Given the description of an element on the screen output the (x, y) to click on. 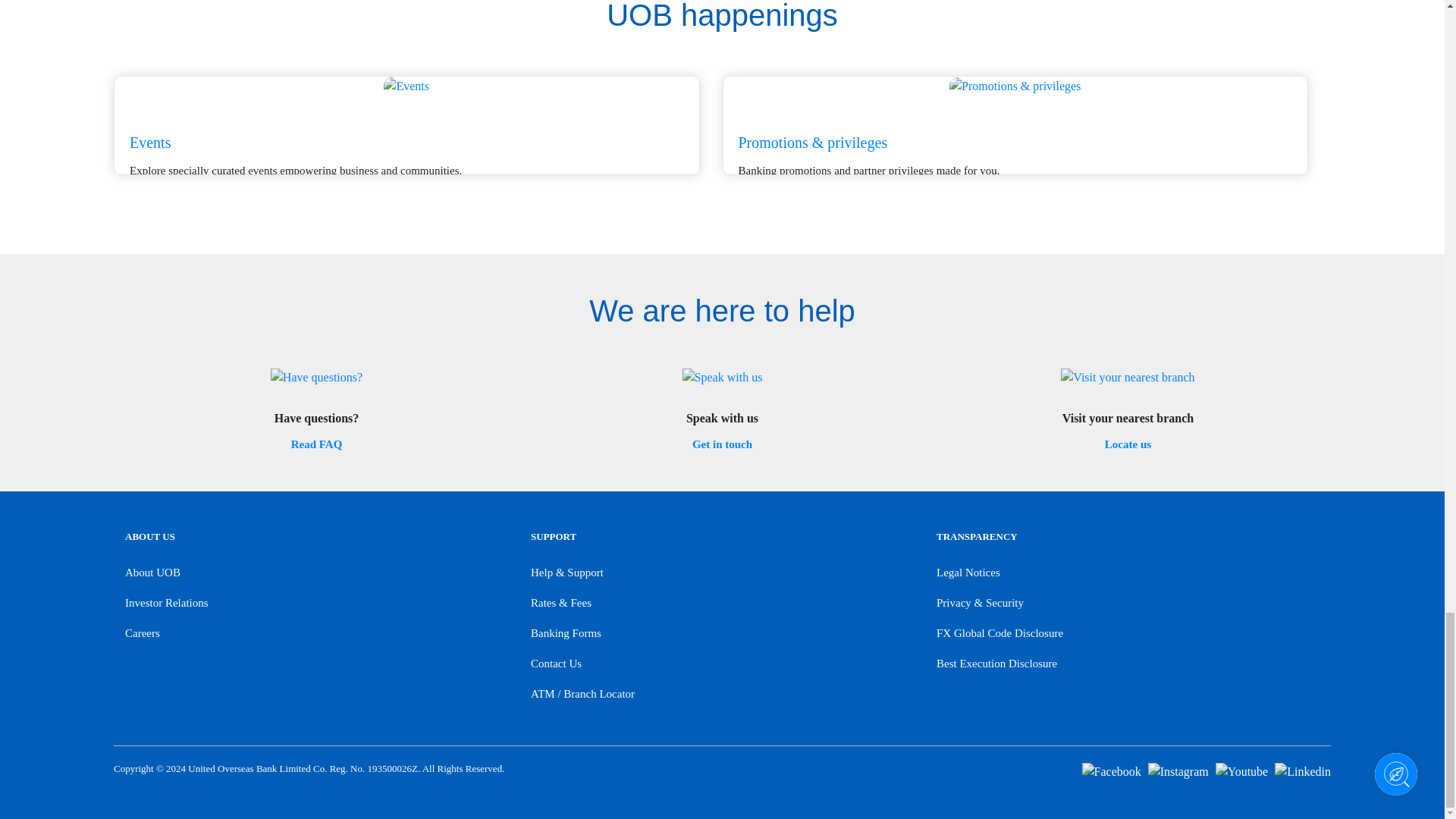
Facebook (1111, 769)
Instagram (1178, 769)
Youtube (1241, 769)
Linkedin (1302, 769)
